Given the description of an element on the screen output the (x, y) to click on. 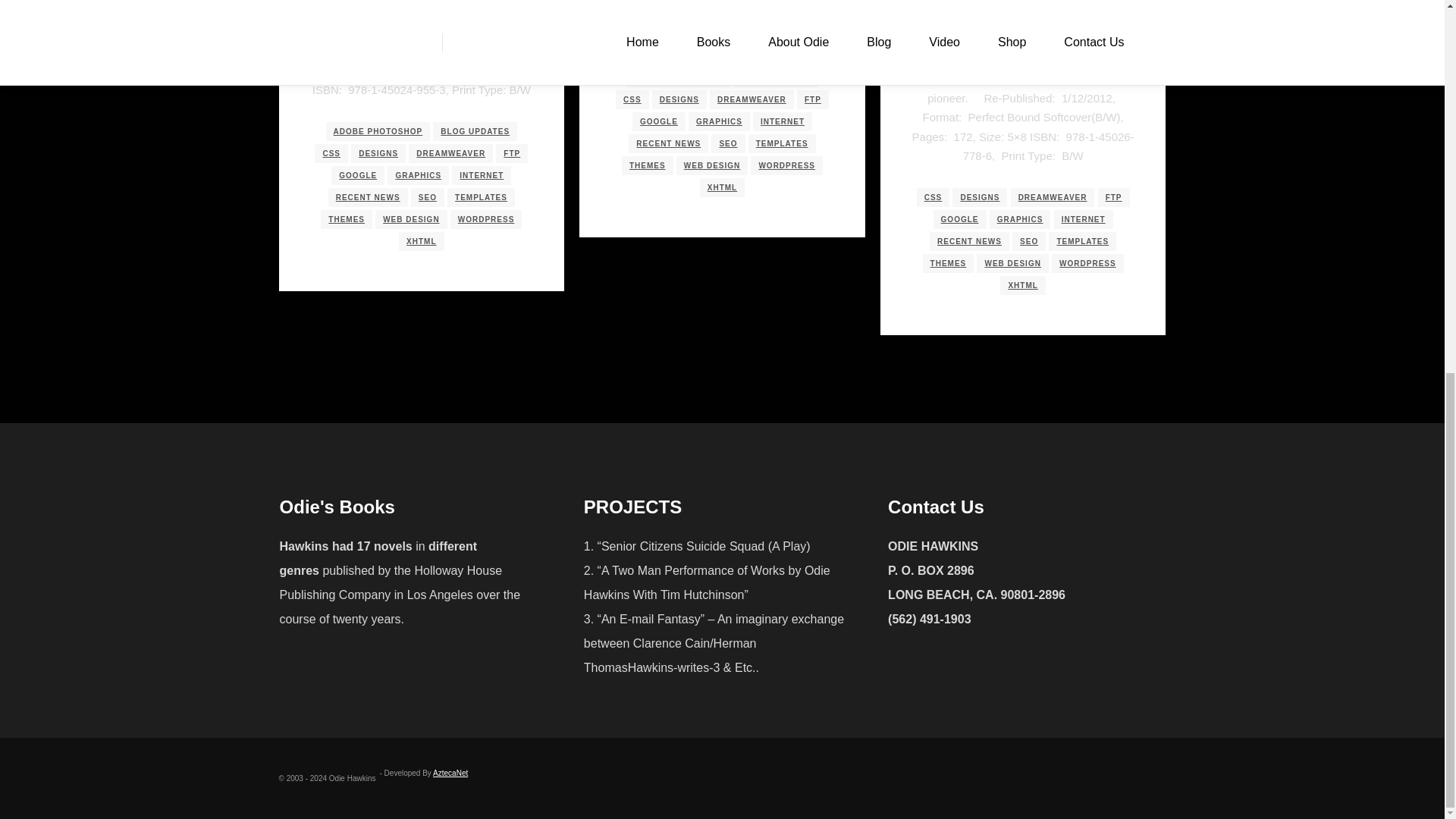
ADOBE PHOTOSHOP (378, 131)
WORDPRESS (485, 219)
DREAMWEAVER (451, 153)
DESIGNS (378, 153)
BLOG UPDATES (775, 76)
THEMES (346, 219)
WEB DESIGN (410, 219)
BLOG UPDATES (474, 131)
RECENT NEWS (368, 197)
FTP (511, 153)
